Given the description of an element on the screen output the (x, y) to click on. 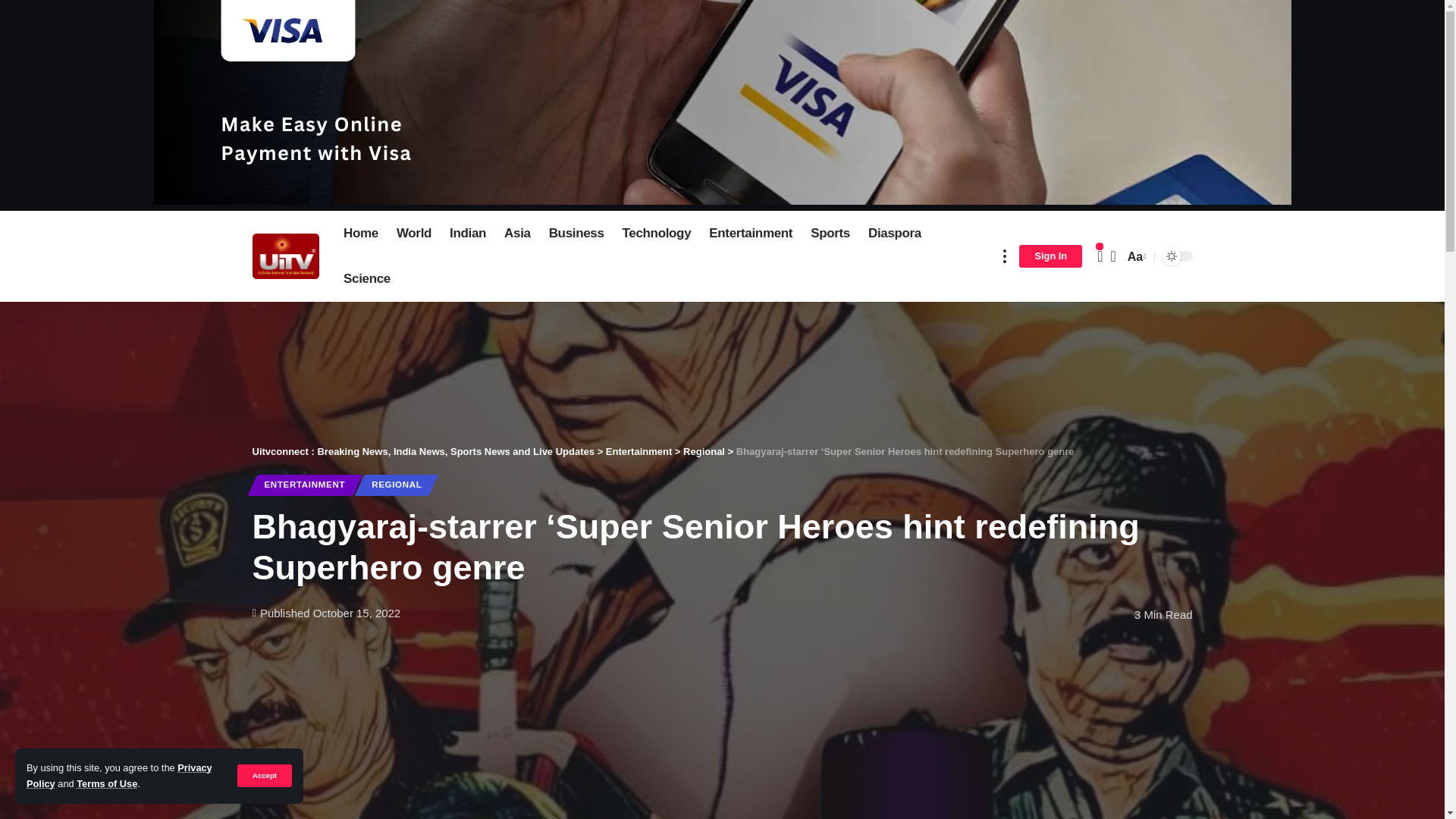
Privacy Policy (119, 775)
Terms of Use (106, 783)
Go to the Regional Category archives. (703, 451)
Asia (517, 233)
Home (360, 233)
Diaspora (894, 233)
Business (576, 233)
Go to the Entertainment Category archives. (638, 451)
Accept (264, 775)
Sports (830, 233)
Technology (656, 233)
Entertainment (751, 233)
Indian (468, 233)
